Given the description of an element on the screen output the (x, y) to click on. 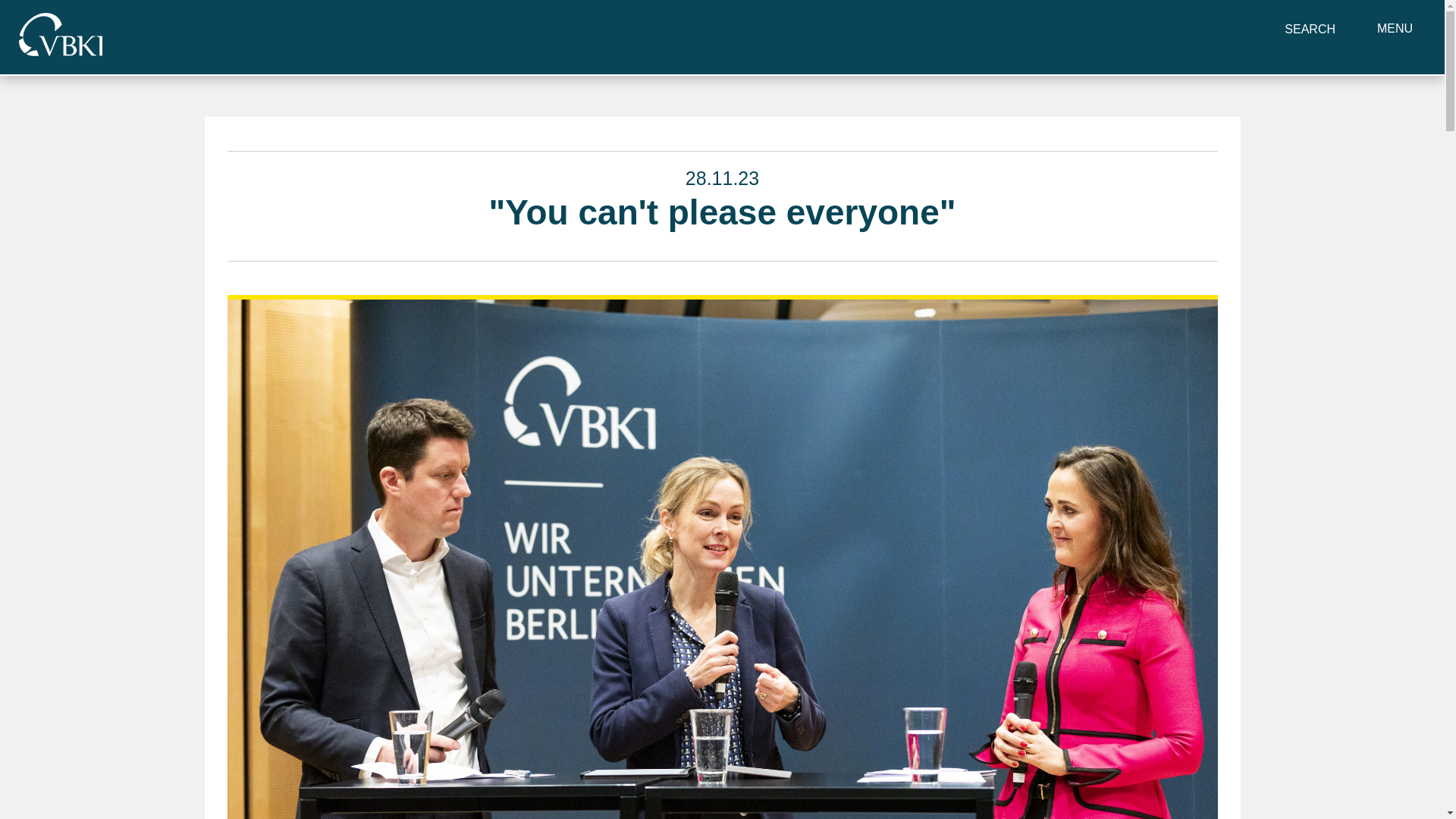
SEARCH (1309, 29)
110px-VBKI (59, 34)
